Given the description of an element on the screen output the (x, y) to click on. 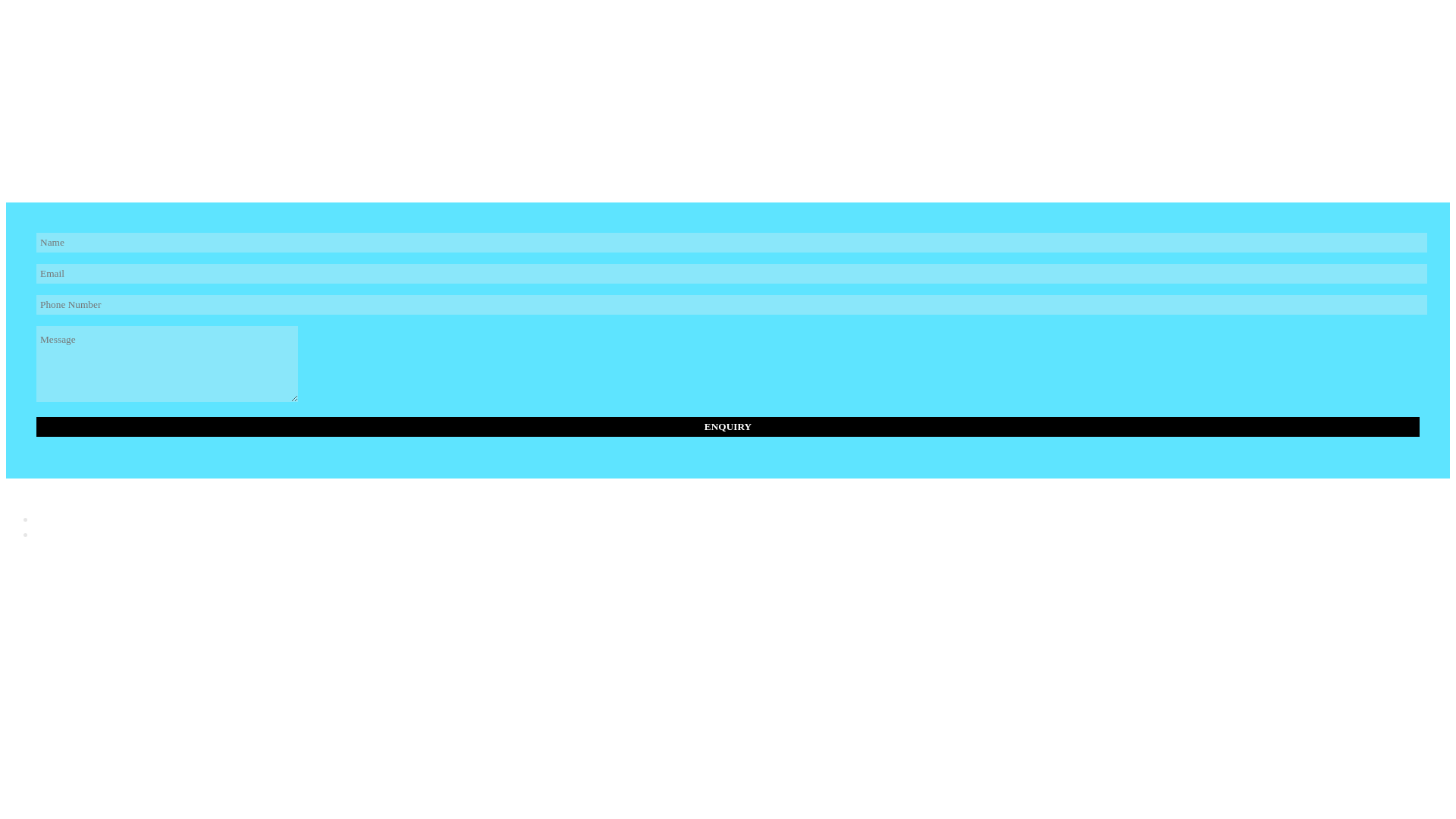
Rentfresh (132, 91)
Enquiry (727, 426)
Enquiry (727, 426)
